Given the description of an element on the screen output the (x, y) to click on. 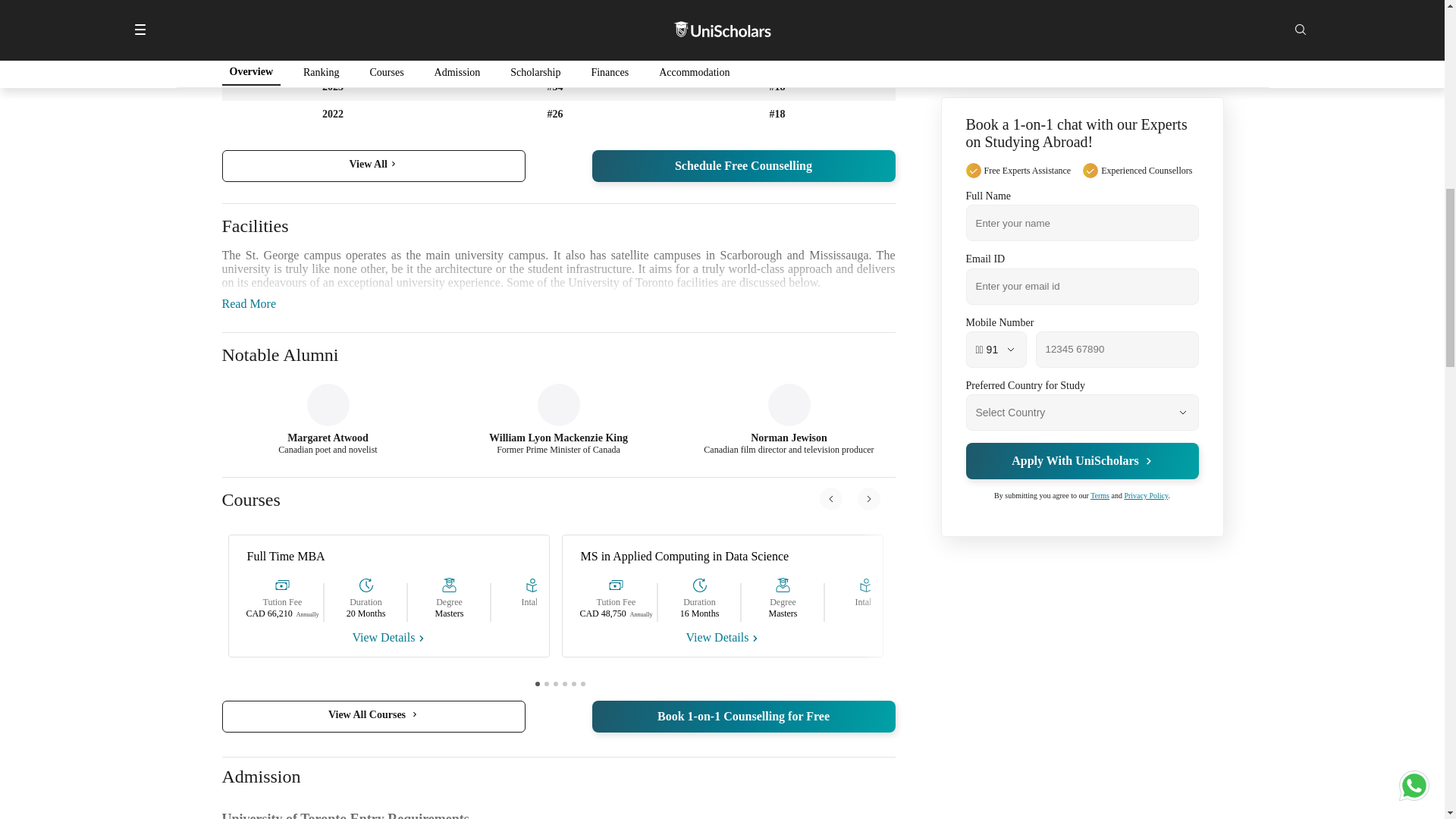
Go to next slide (868, 498)
Schedule Free Counselling (743, 165)
View All (372, 165)
Go to previous slide (829, 498)
